Given the description of an element on the screen output the (x, y) to click on. 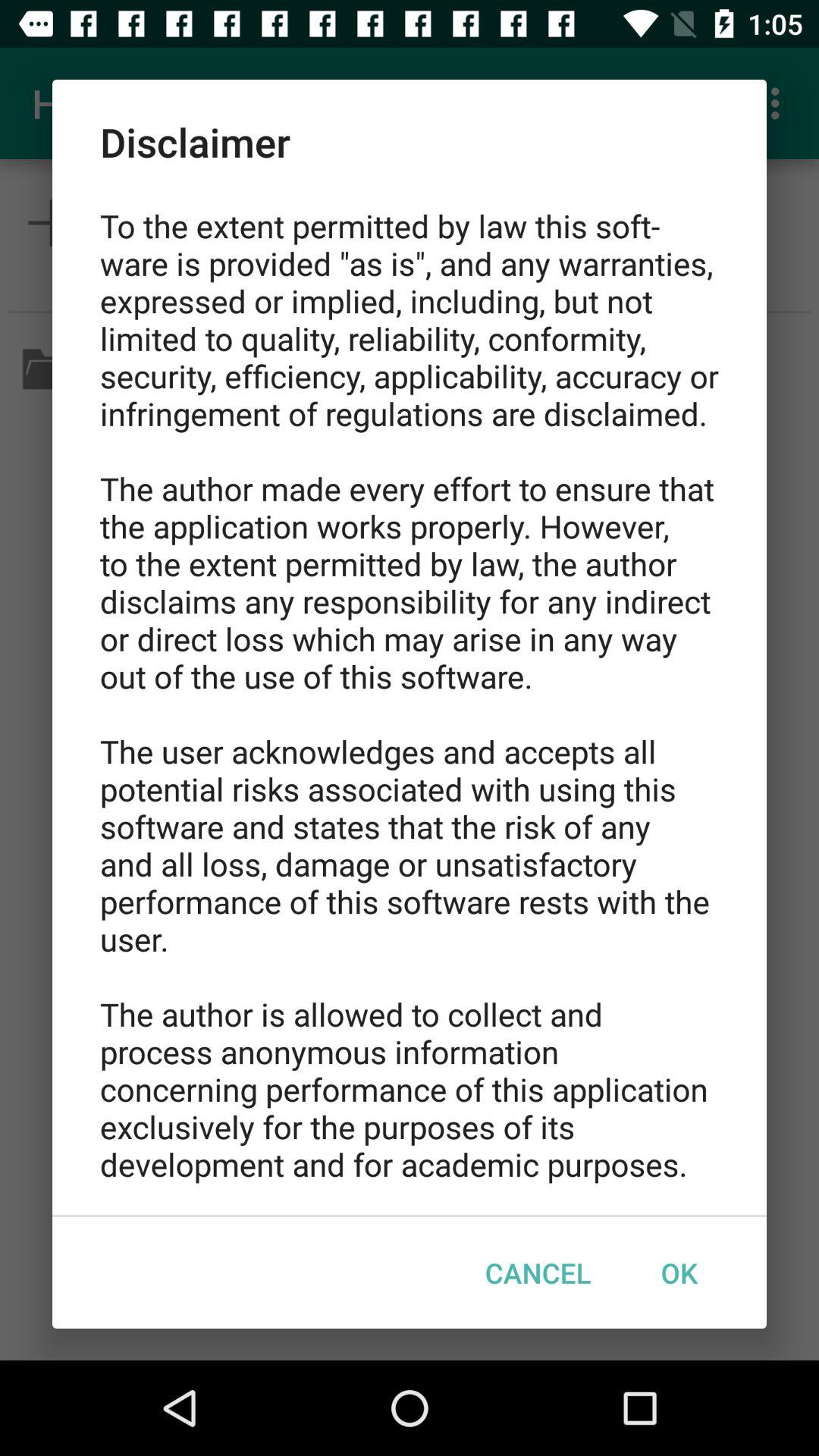
choose the icon below to the extent (538, 1272)
